Given the description of an element on the screen output the (x, y) to click on. 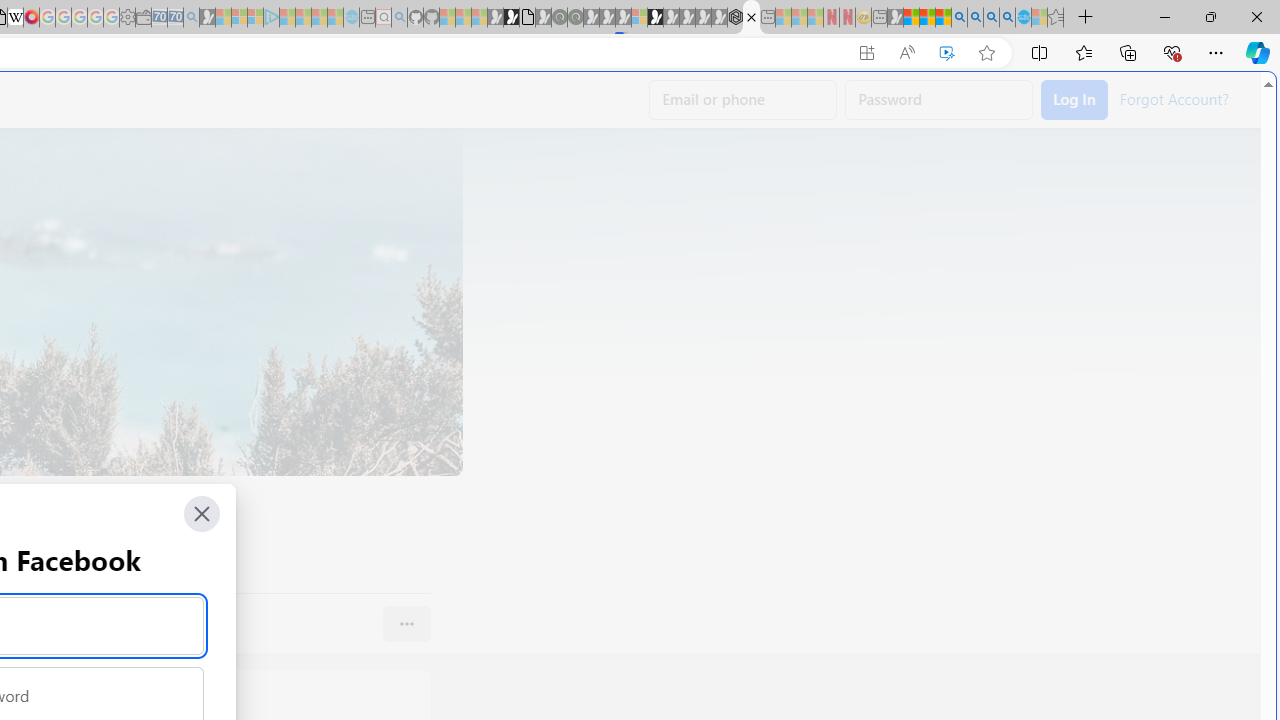
App available. Install Facebook (867, 53)
Email or phone (743, 99)
Settings - Sleeping (127, 17)
2009 Bing officially replaced Live Search on June 3 - Search (975, 17)
Play Cave FRVR in your browser | Games from Microsoft Start (343, 426)
